Given the description of an element on the screen output the (x, y) to click on. 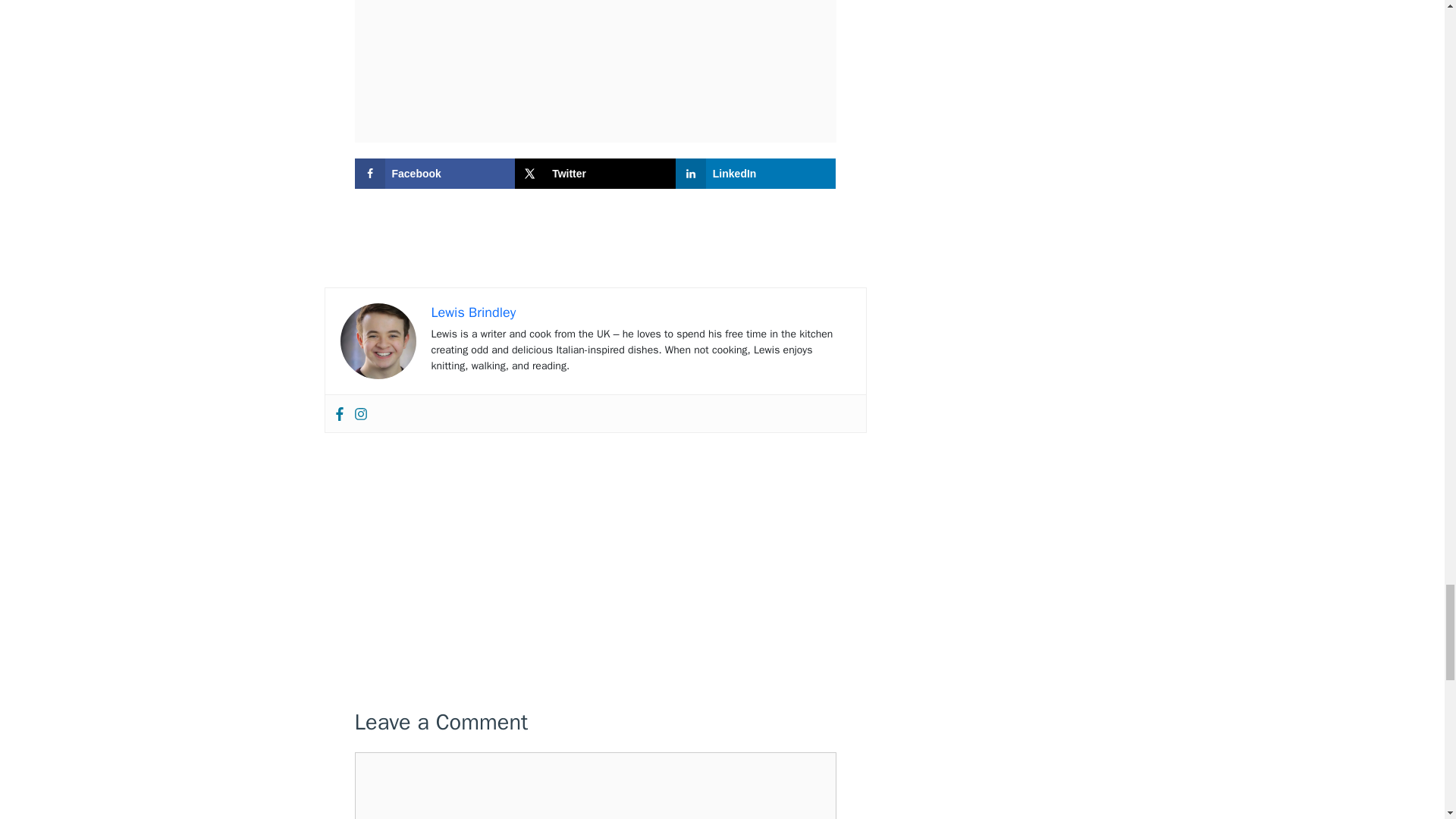
Share on LinkedIn (755, 173)
Instagram (359, 413)
Share on X (595, 173)
Share on Facebook (435, 173)
Facebook (338, 413)
